Given the description of an element on the screen output the (x, y) to click on. 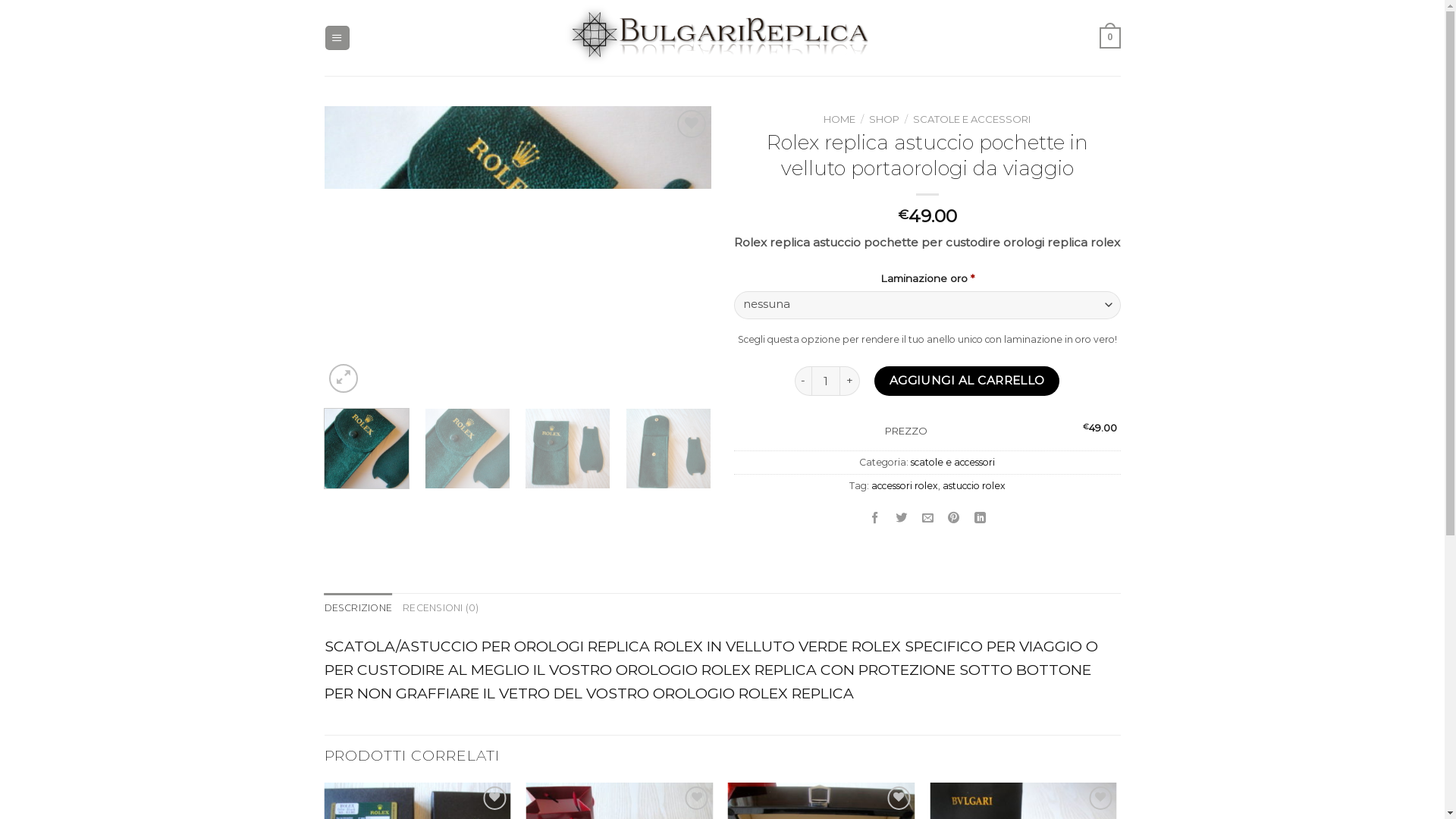
scatole e accessori Element type: text (952, 434)
RECENSIONI (0) Element type: text (440, 580)
Pin su Pinterest Element type: hover (953, 518)
DESCRIZIONE Element type: text (358, 580)
Salta ai contenuti Element type: text (0, 0)
SHOP Element type: text (884, 118)
Condividi su Twitter Element type: hover (901, 518)
AGGIUNGI AL CARRELLO Element type: text (966, 380)
Invia per email ad un Amico Element type: hover (927, 518)
accessori rolex Element type: text (903, 457)
Bulgari replica - Bulgari gioielli replica Element type: hover (722, 37)
Condividi su LinkedIn Element type: hover (980, 518)
SCATOLE E ACCESSORI Element type: text (971, 118)
0 Element type: text (1109, 37)
astuccio rolex Element type: text (972, 457)
rolex replica pochette porta orologi-1 Element type: hover (517, 251)
HOME Element type: text (839, 118)
Zoom Element type: hover (343, 378)
Condividi su Facebook Element type: hover (874, 518)
